Given the description of an element on the screen output the (x, y) to click on. 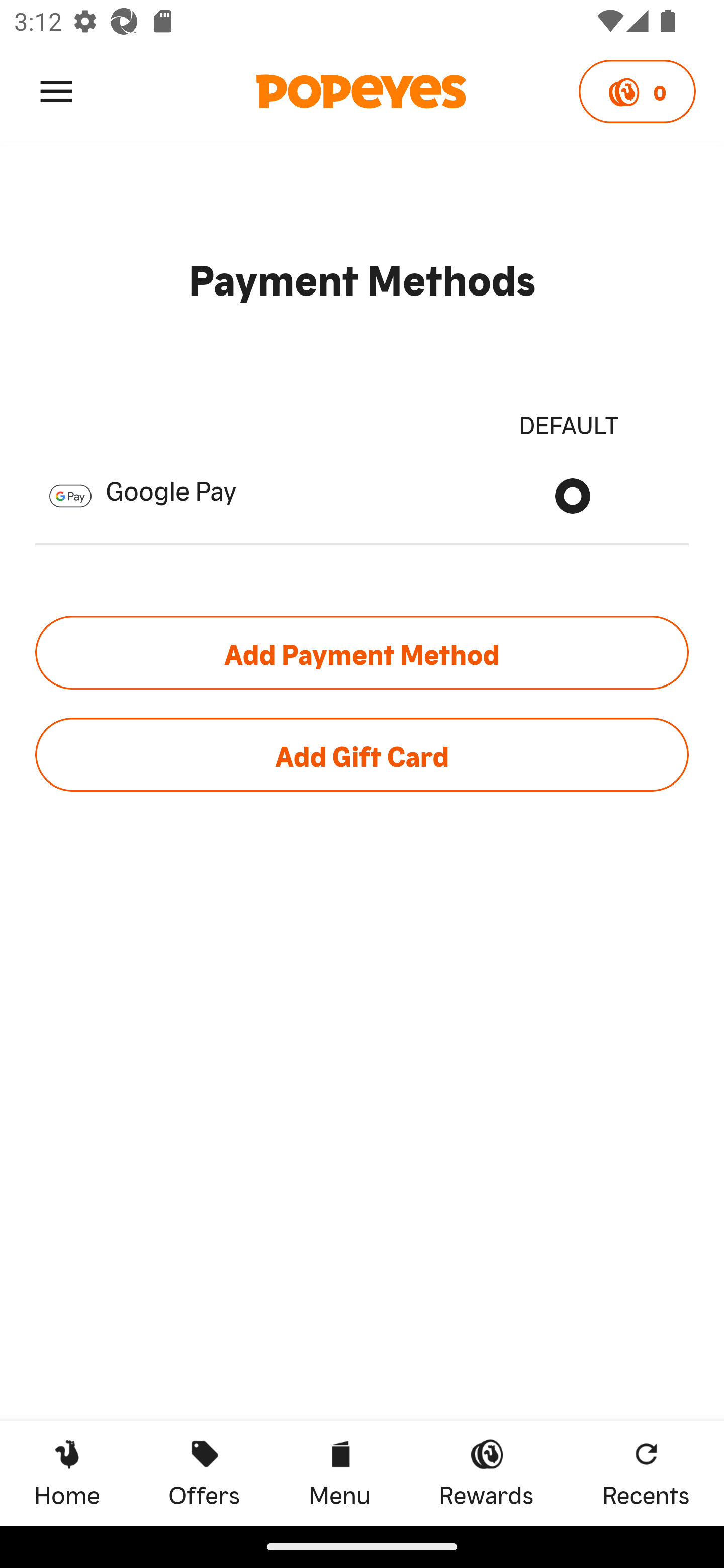
Menu  (56, 90)
0 Points 0 (636, 91)
Google Pay (319, 495)
Add Payment Method (361, 652)
Add Gift Card (361, 754)
Home Home Home (66, 1472)
Offers Offers Offers (203, 1472)
Menu Menu Menu (339, 1472)
Rewards Rewards Rewards (486, 1472)
Recents Recents Recents (646, 1472)
